Given the description of an element on the screen output the (x, y) to click on. 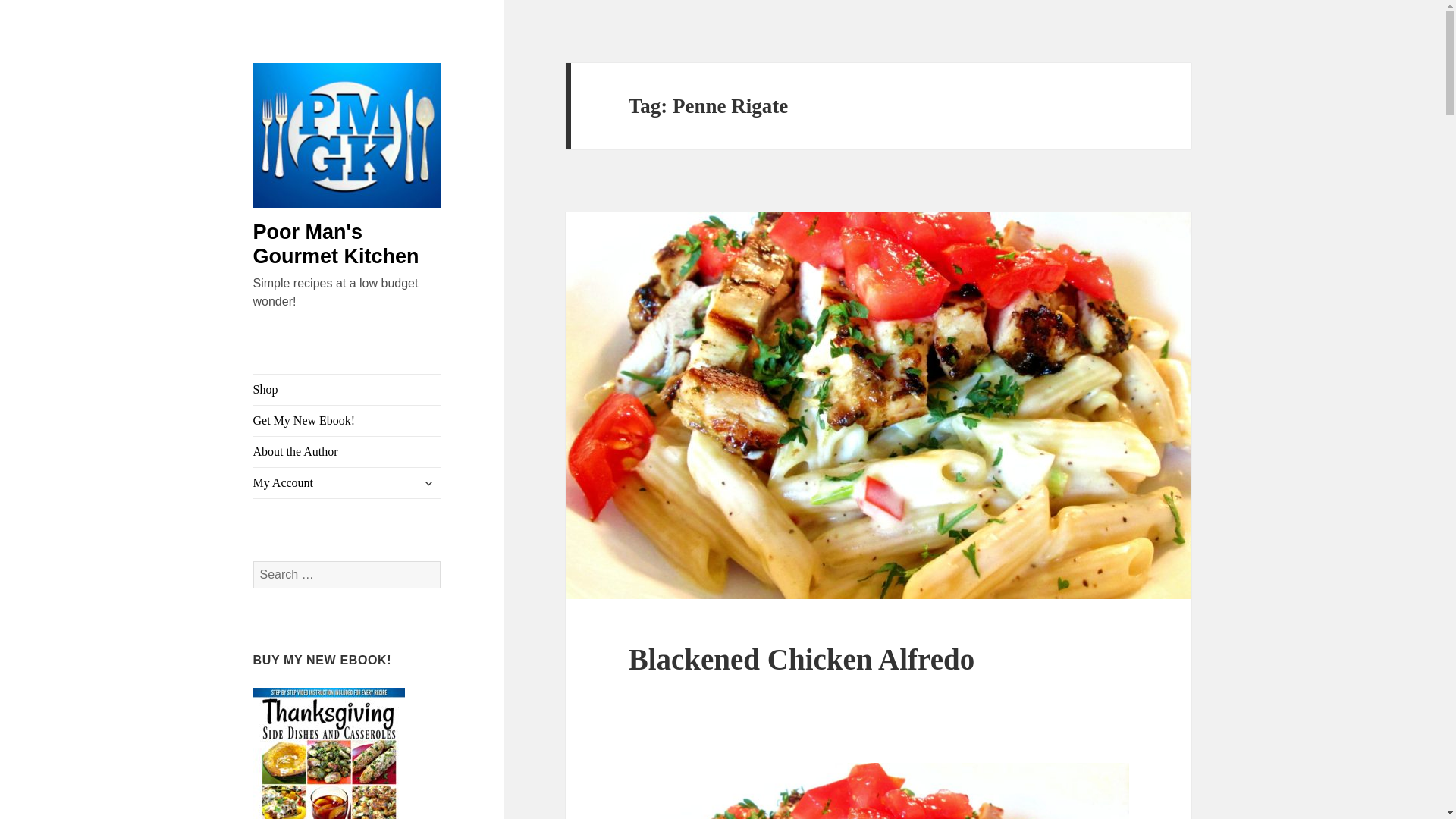
Get My New Ebook! (347, 420)
My Account (347, 482)
Shop (347, 389)
expand child menu (428, 482)
About the Author (347, 451)
Poor Man's Gourmet Kitchen (336, 243)
Blackened Chicken Alfredo (801, 658)
